Given the description of an element on the screen output the (x, y) to click on. 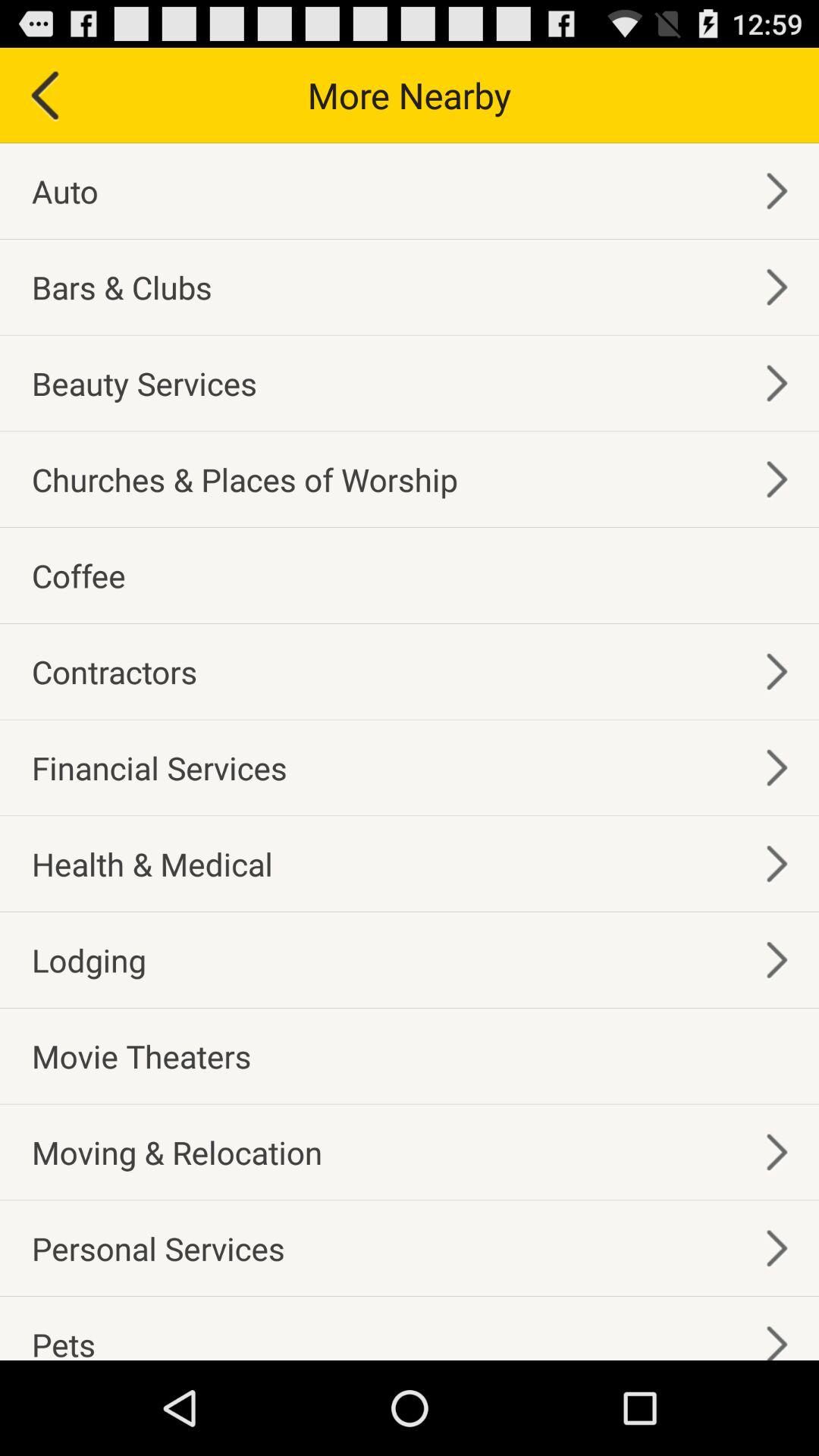
select item above beauty services (121, 286)
